Given the description of an element on the screen output the (x, y) to click on. 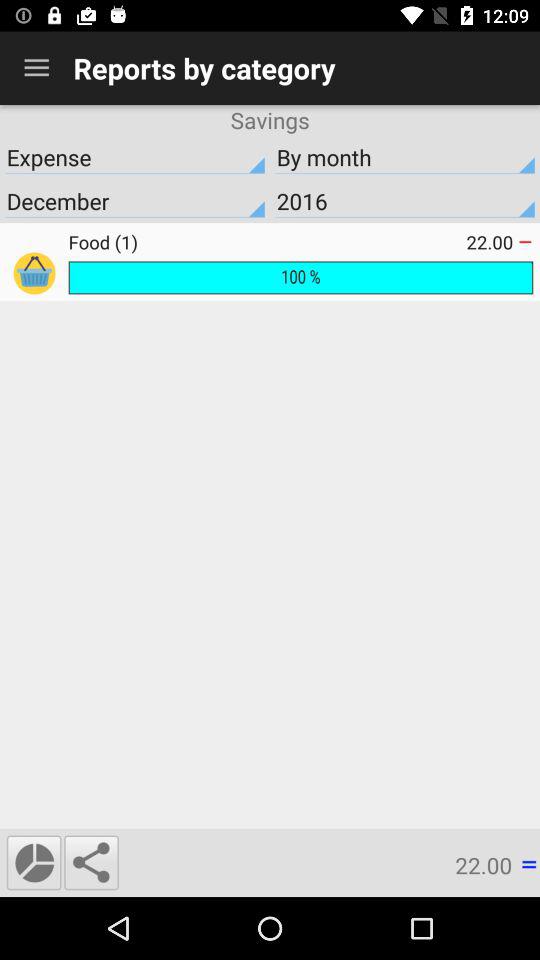
turn on the item above the savings item (36, 68)
